Given the description of an element on the screen output the (x, y) to click on. 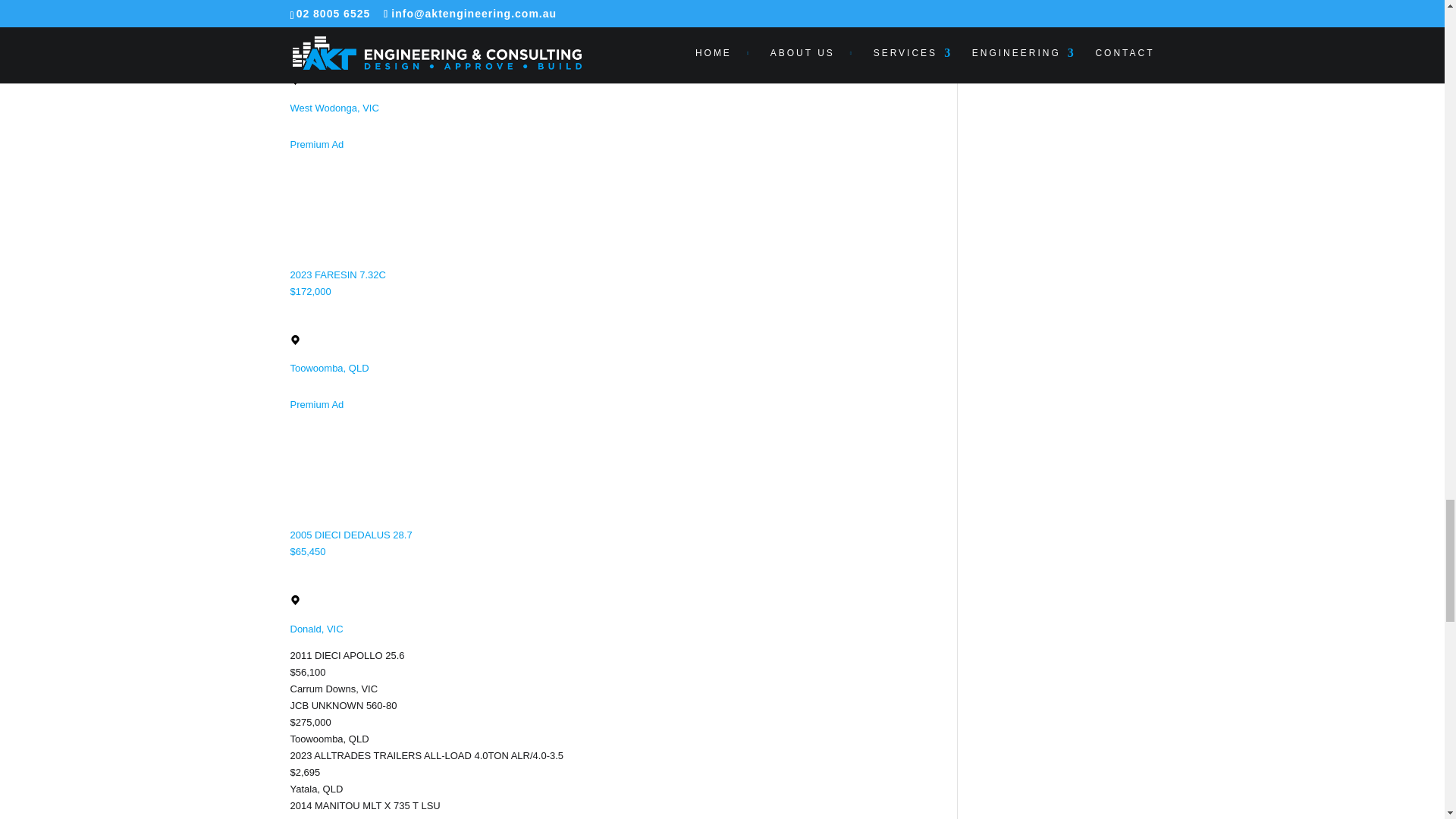
Location marker The shape of a location marker (294, 600)
Location marker The shape of a location marker (294, 79)
Location marker The shape of a location marker (294, 339)
